Given the description of an element on the screen output the (x, y) to click on. 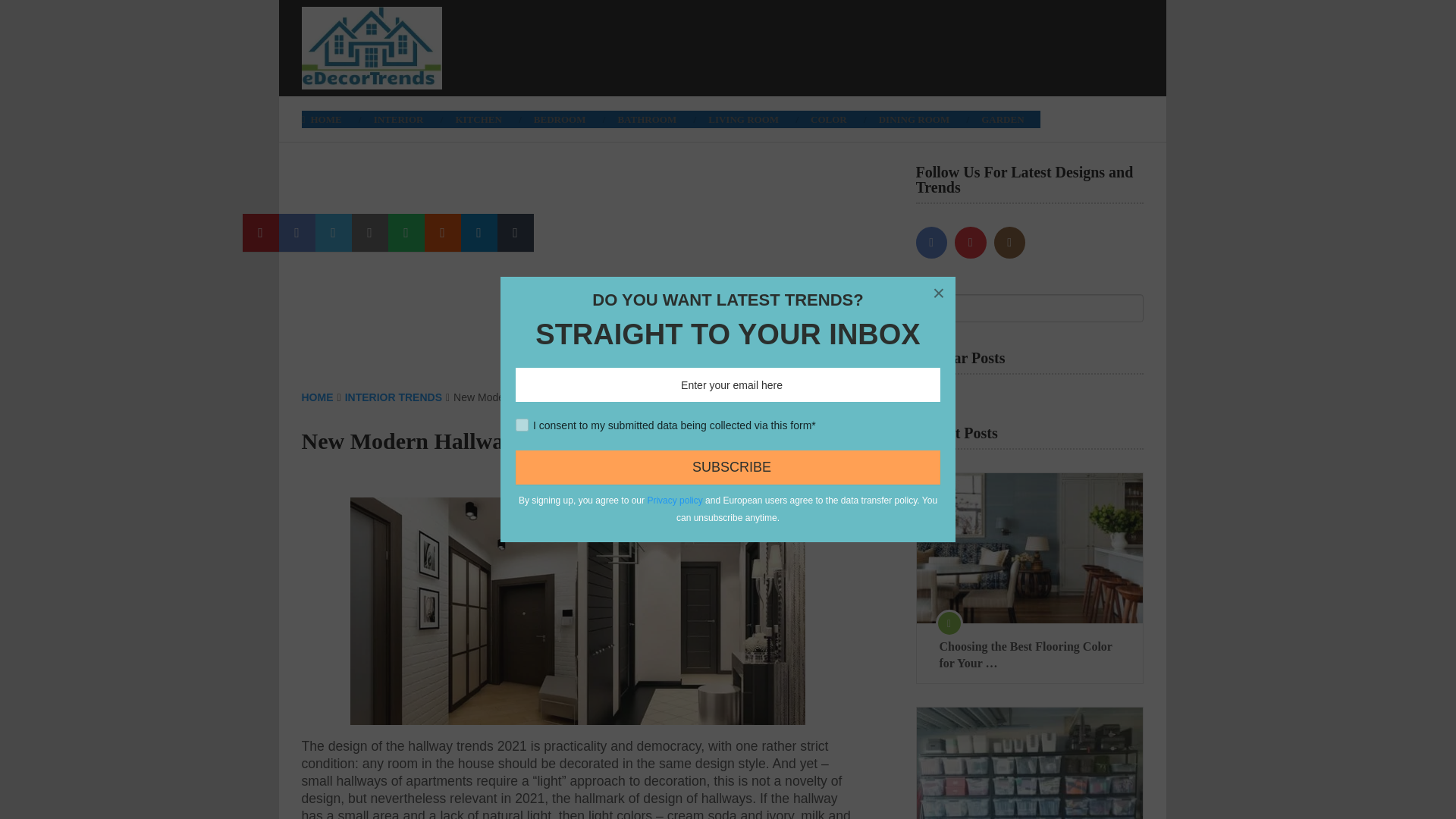
Advertisement (578, 276)
Subscribe (723, 468)
BATHROOM (647, 118)
LIVING ROOM (743, 118)
DINING ROOM (914, 118)
COLOR (828, 118)
HOME (329, 118)
Advertisement (866, 45)
BEDROOM (560, 118)
Facebook (931, 242)
KITCHEN (477, 118)
Instagram (1008, 242)
INTERIOR TRENDS (393, 397)
HOME (317, 397)
Privacy policy (671, 502)
